Given the description of an element on the screen output the (x, y) to click on. 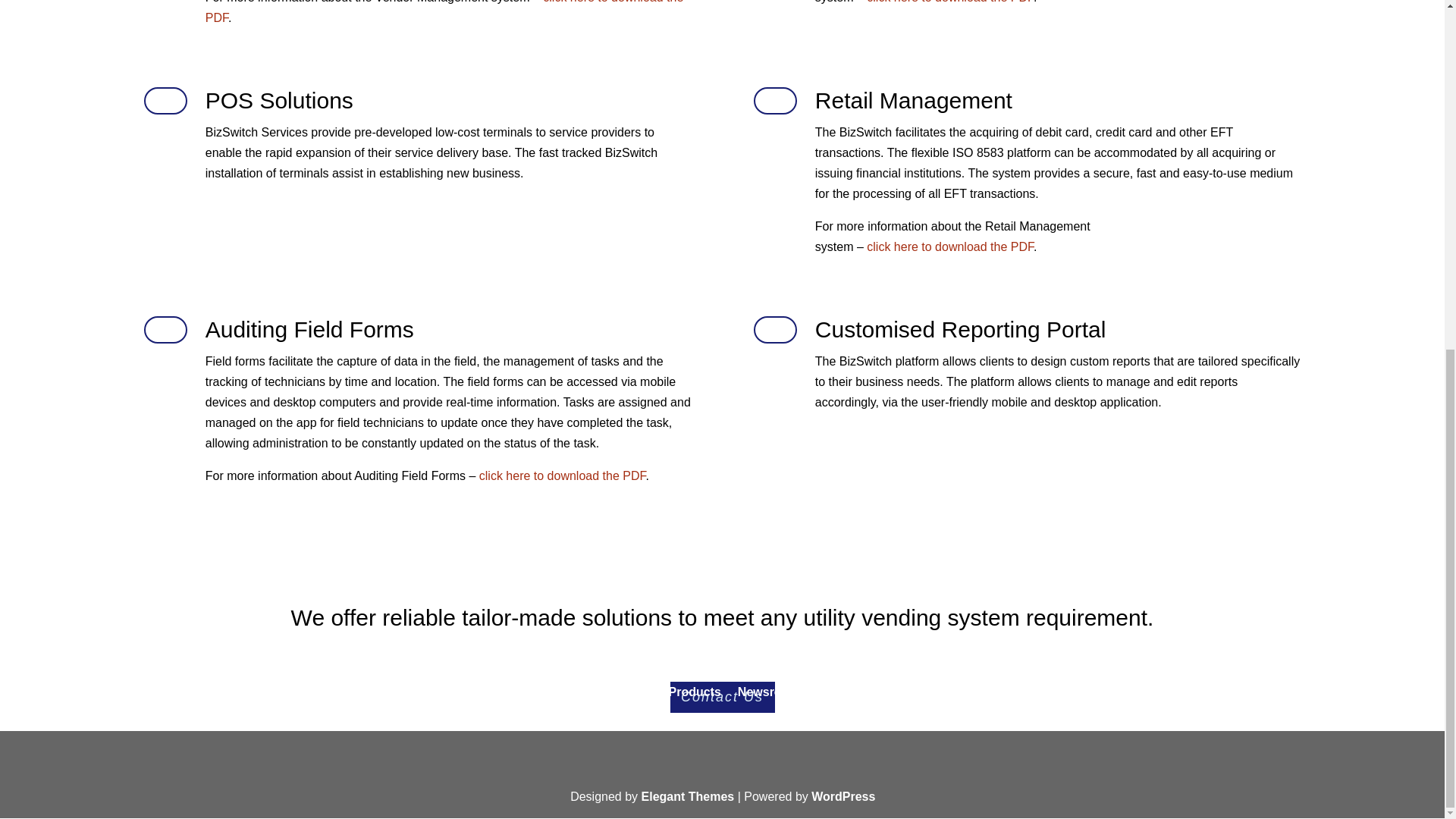
click here to download the PDF (444, 12)
Contact Us (721, 696)
WordPress (842, 796)
Newsroom (777, 692)
click here to download the PDF (949, 246)
click here to download the PDF (562, 475)
Home (571, 692)
Contact Us (856, 692)
Premium WordPress Themes (688, 796)
About Us (632, 692)
